Given the description of an element on the screen output the (x, y) to click on. 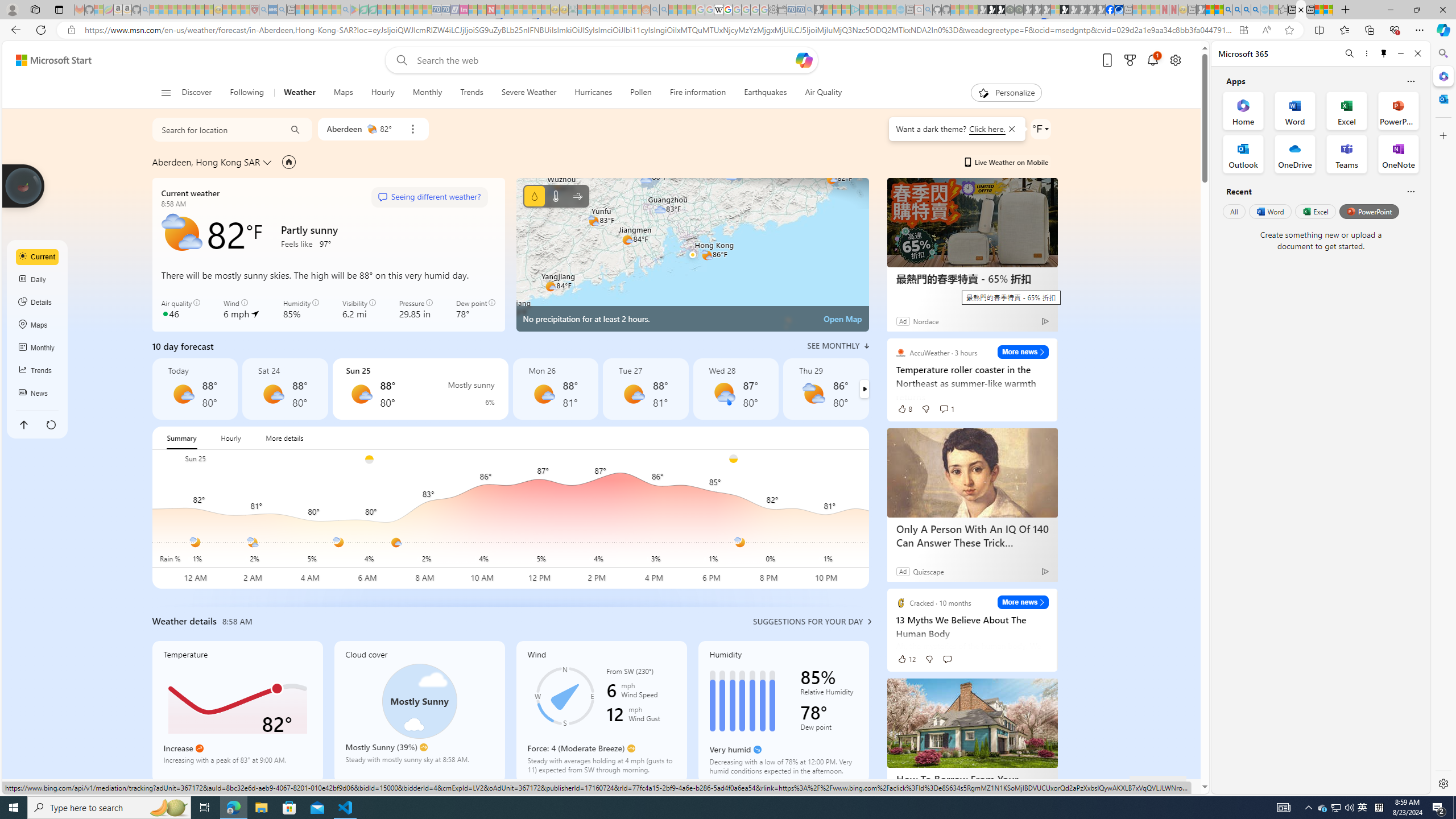
App available. Install Microsoft Start Weather (1243, 29)
